Given the description of an element on the screen output the (x, y) to click on. 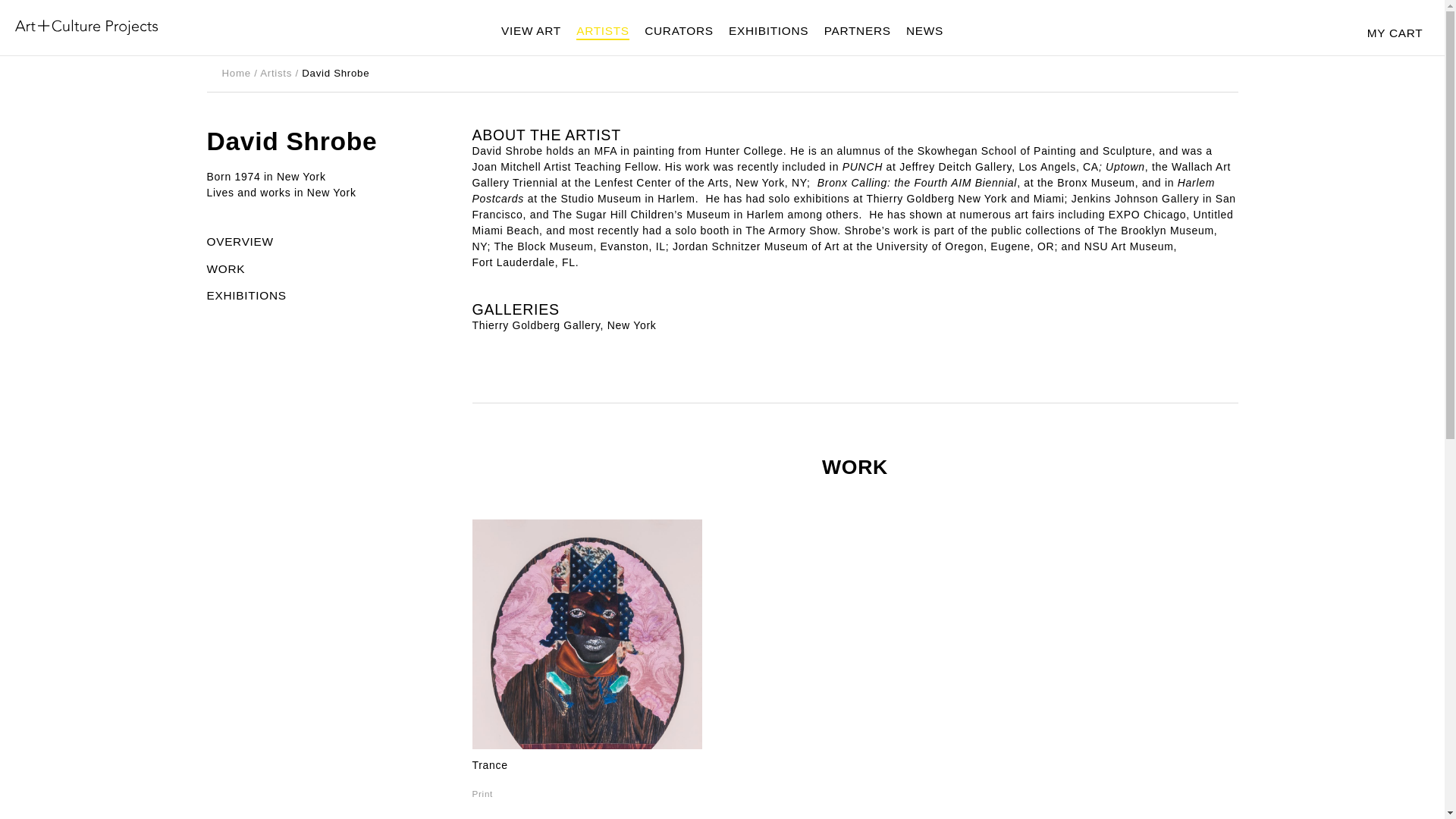
ARTISTS (602, 31)
CURATORS (679, 31)
Thierry Goldberg Gallery (535, 325)
PARTNERS (857, 31)
EXHIBITIONS (768, 31)
OVERVIEW (319, 241)
EXHIBITIONS (319, 294)
Artists (276, 72)
